Given the description of an element on the screen output the (x, y) to click on. 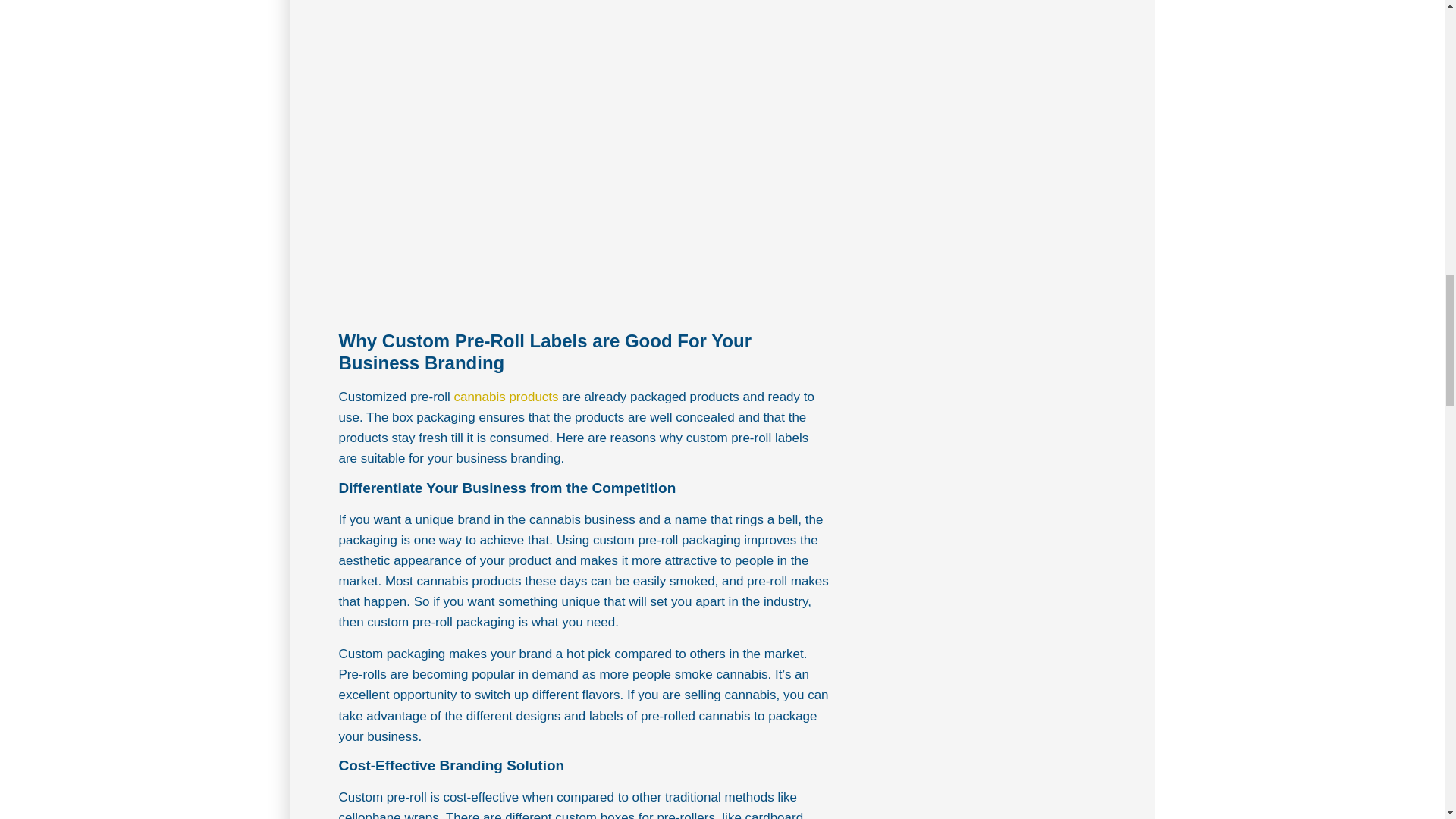
cannabis products (506, 396)
